Given the description of an element on the screen output the (x, y) to click on. 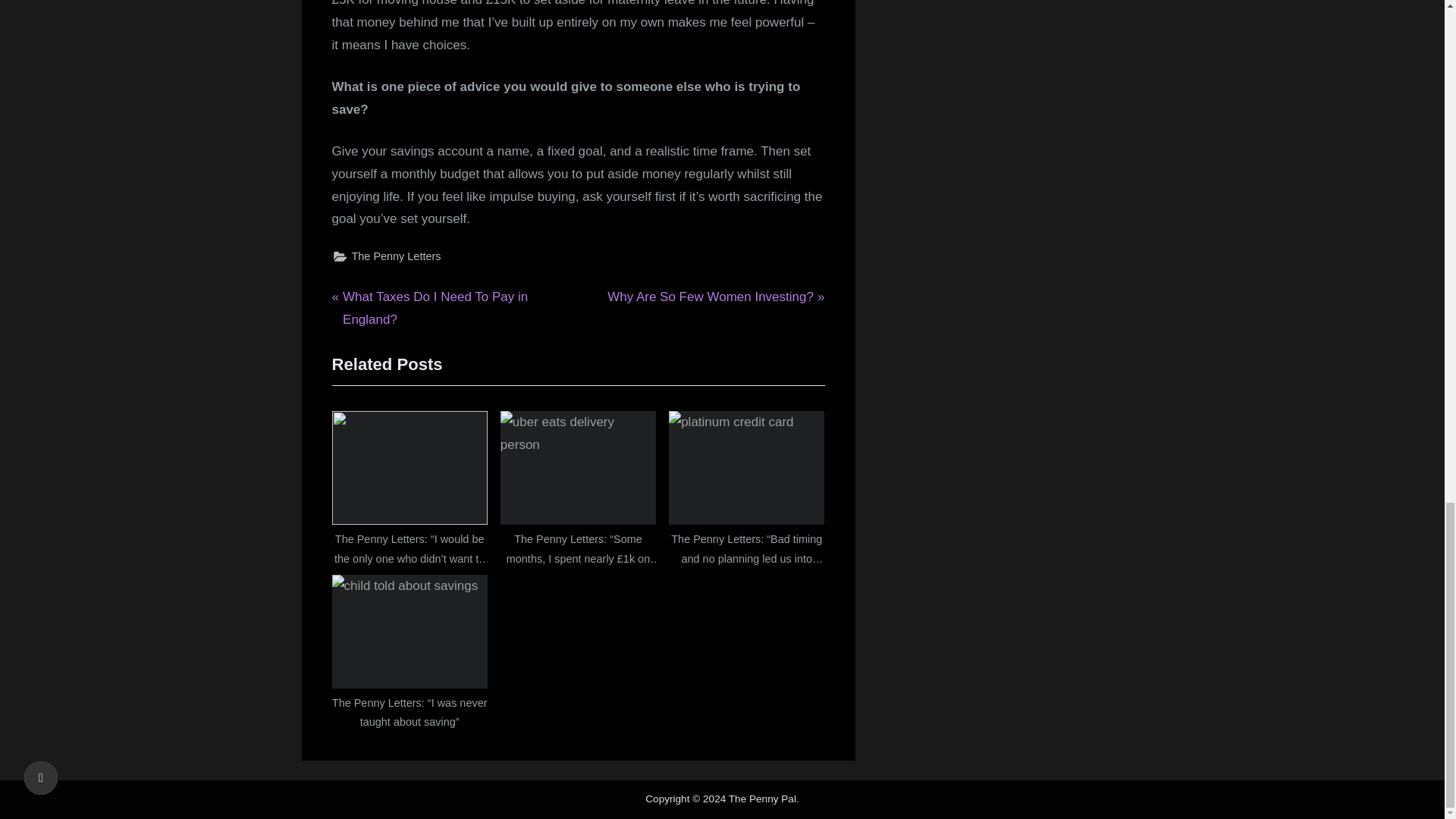
The Penny Letters (715, 296)
